Given the description of an element on the screen output the (x, y) to click on. 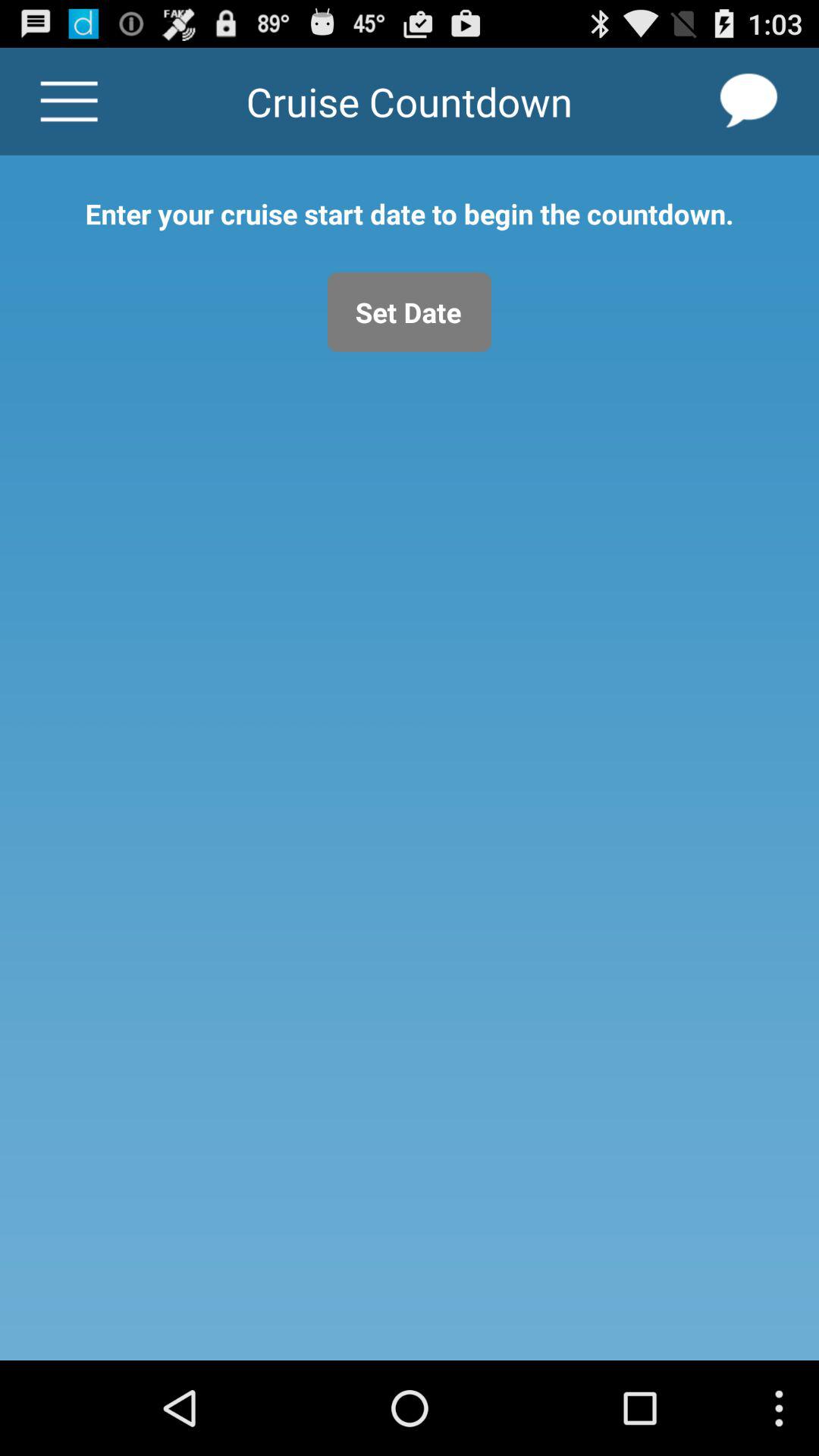
choose set date icon (409, 312)
